Given the description of an element on the screen output the (x, y) to click on. 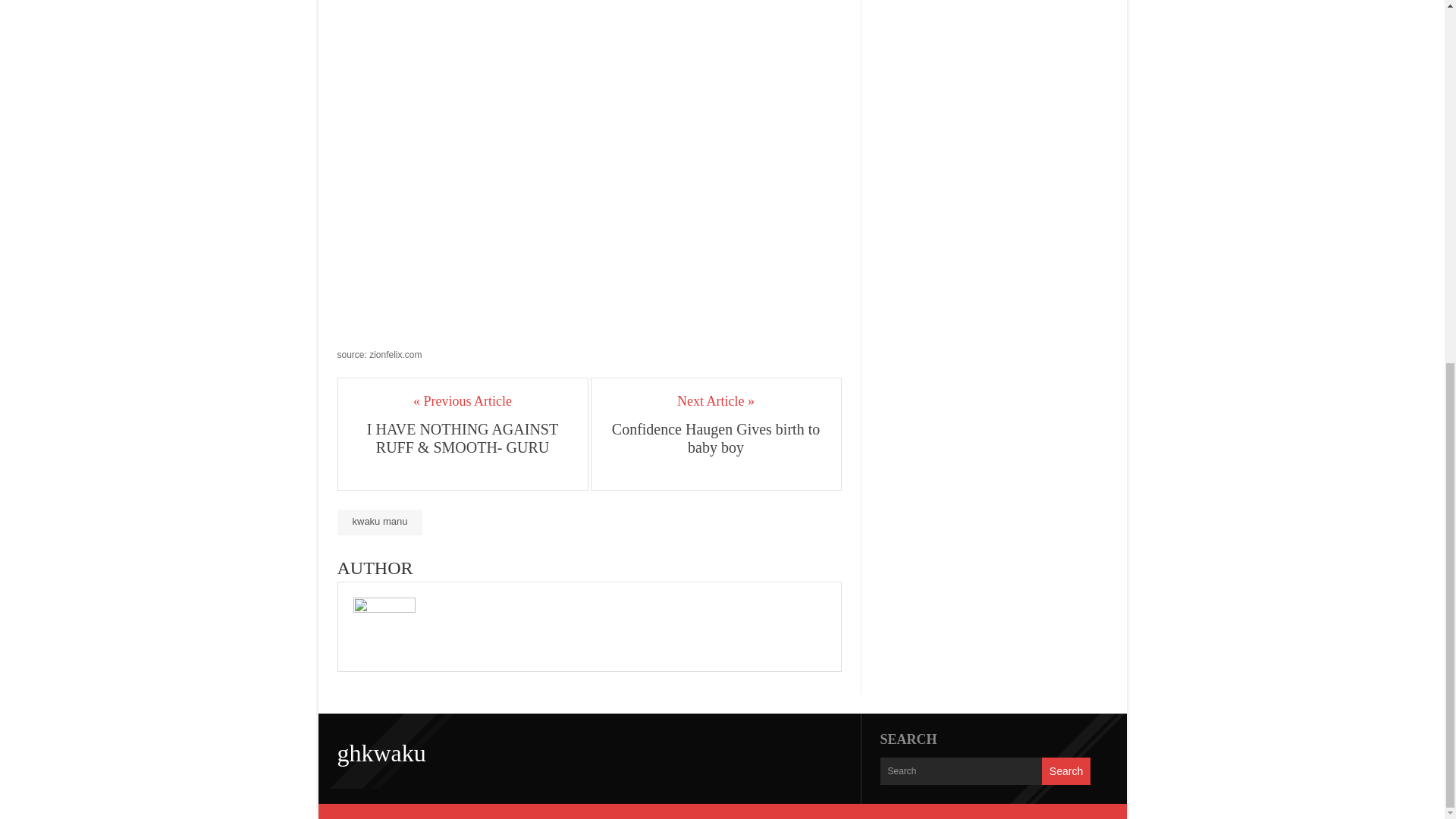
Search (1066, 770)
kwaku manu (379, 522)
Search (1066, 770)
ghkwaku (380, 752)
Confidence Haugen Gives birth to baby boy (716, 438)
